Given the description of an element on the screen output the (x, y) to click on. 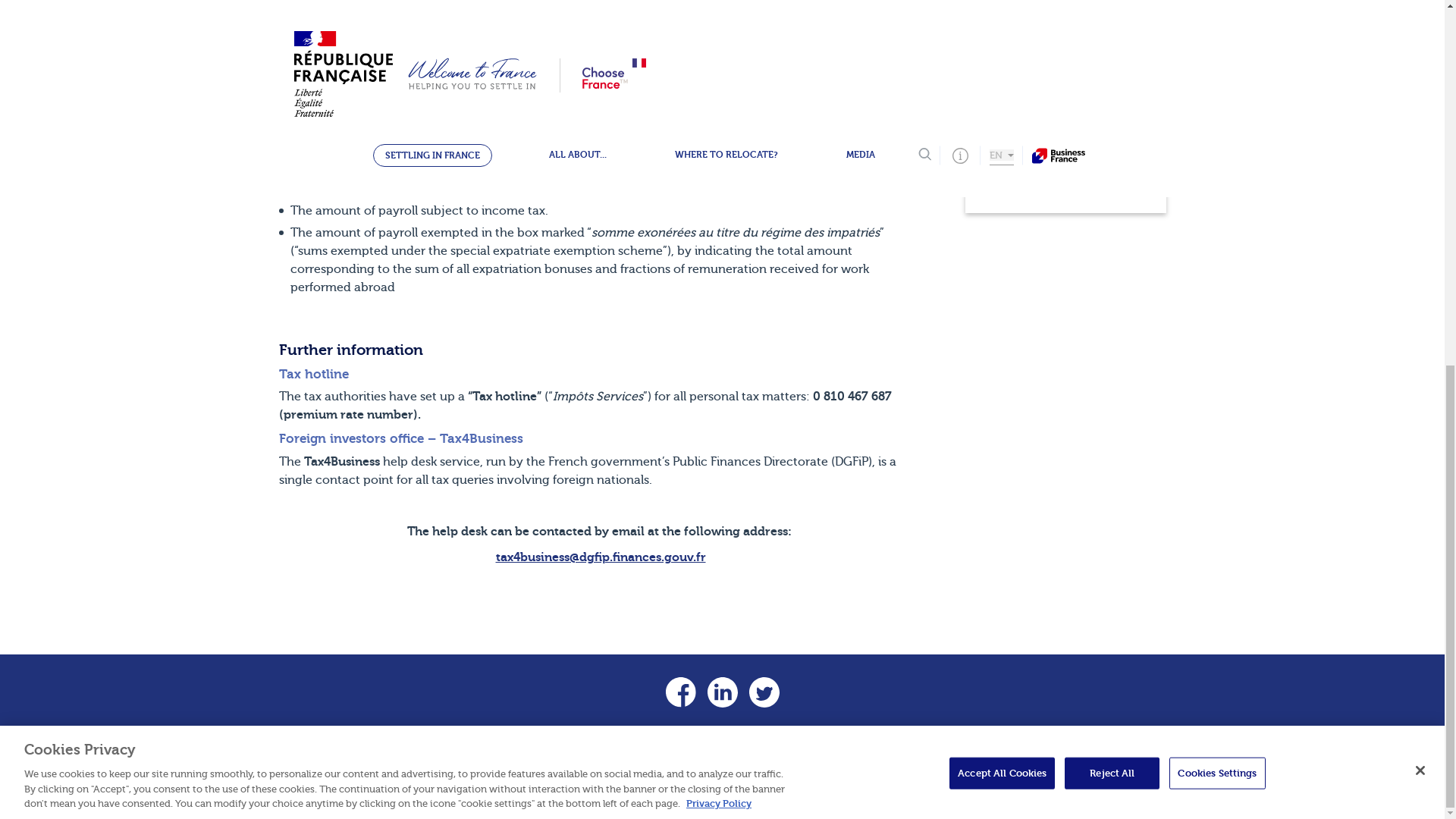
Income Declaration Form no. 2042C (410, 11)
